Given the description of an element on the screen output the (x, y) to click on. 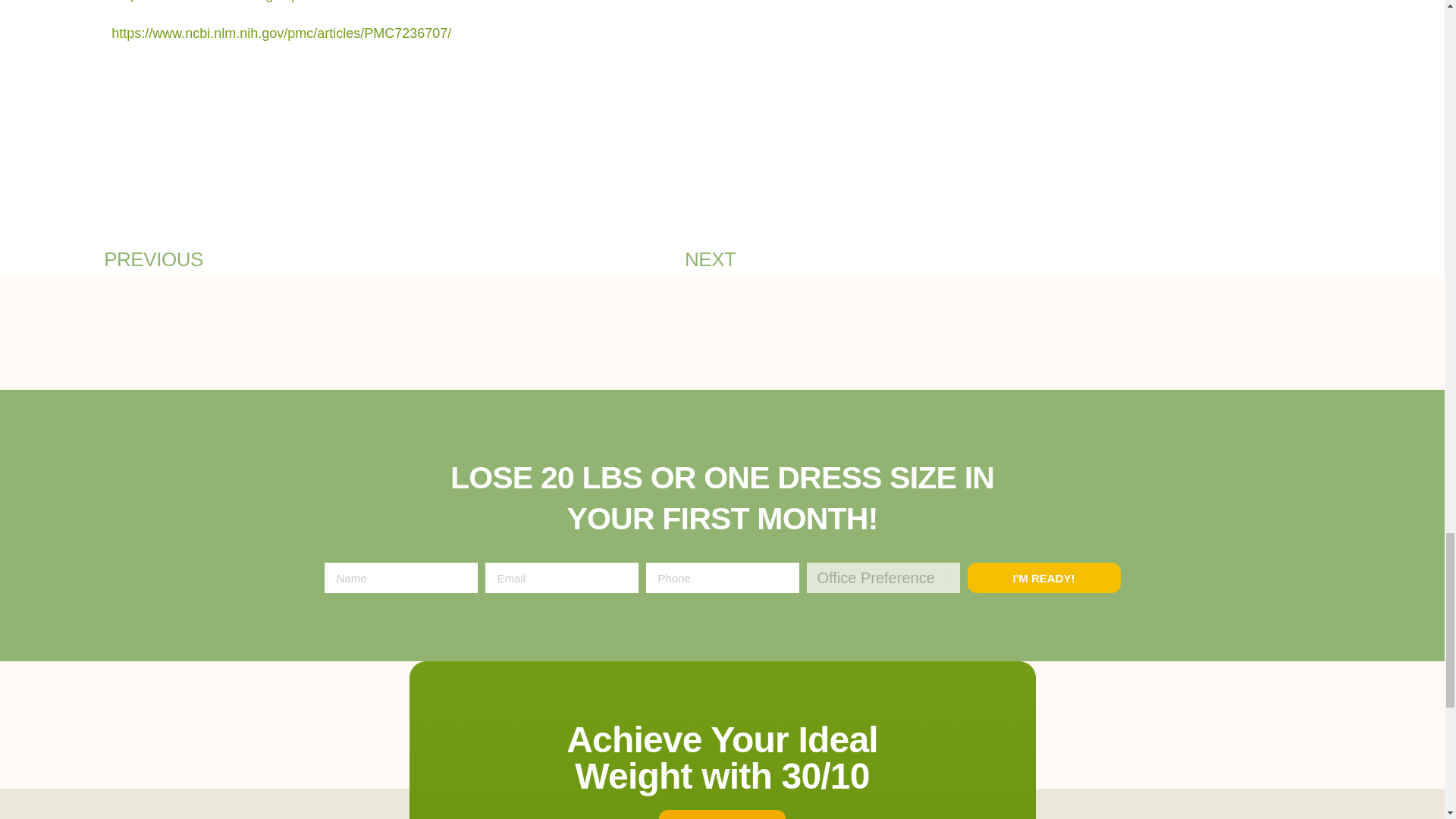
NEXT (578, 259)
PREVIOUS (261, 259)
I'M READY! (1044, 577)
Get Started (722, 814)
